Given the description of an element on the screen output the (x, y) to click on. 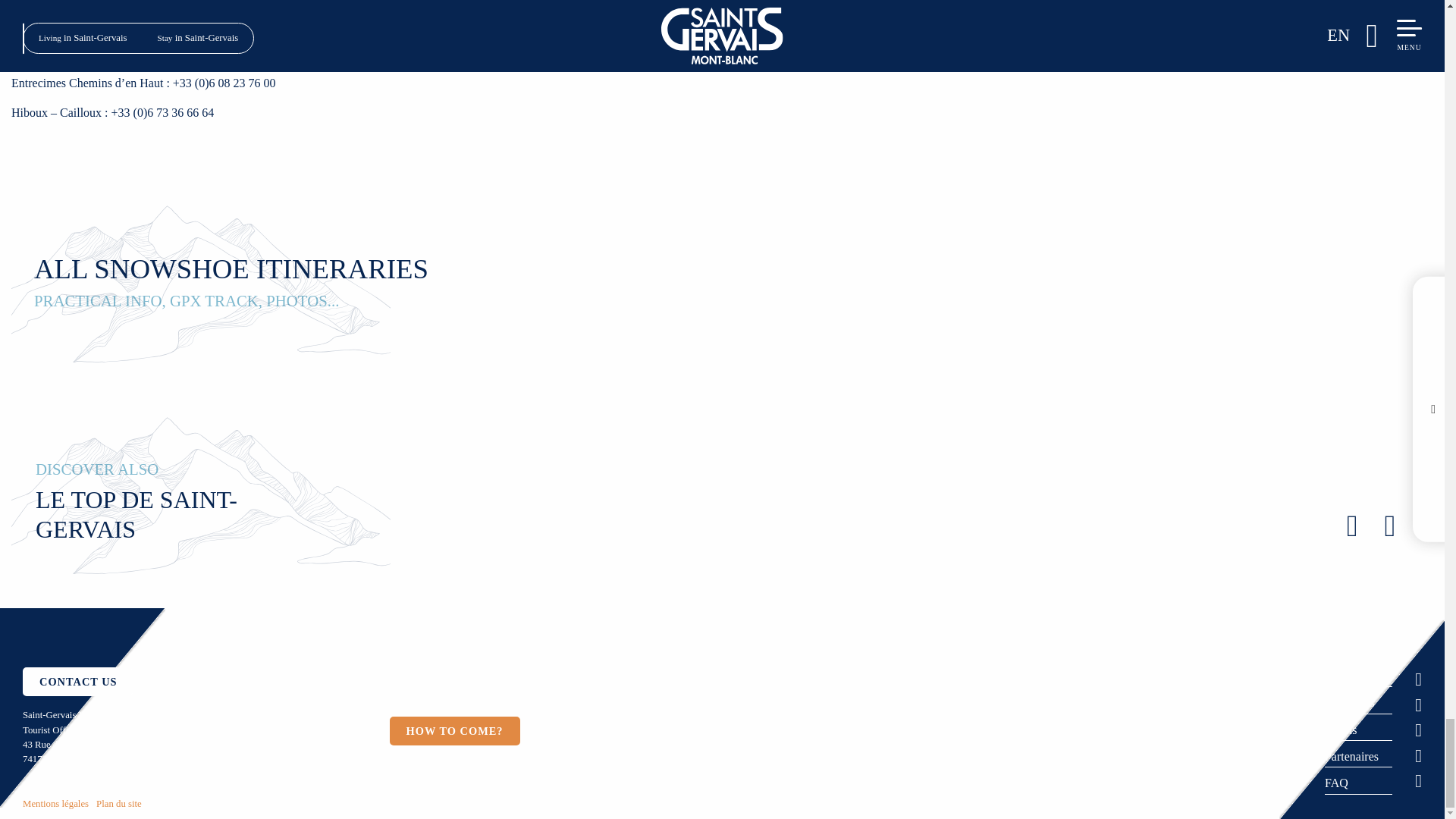
CONTACT US (78, 681)
Espace presse (1357, 675)
Brochures (1349, 702)
HOW TO COME? (454, 730)
FAQ (1336, 782)
Labels (1340, 729)
Partenaires (1351, 756)
